Given the description of an element on the screen output the (x, y) to click on. 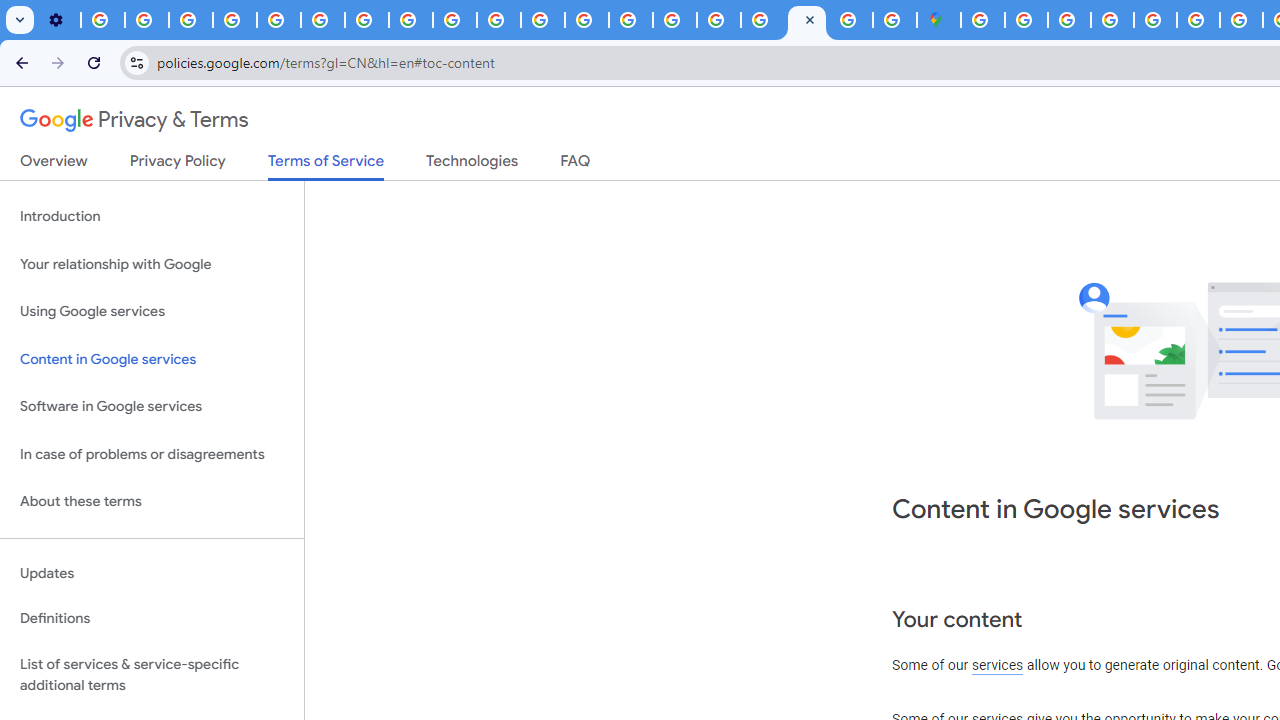
Definitions (152, 619)
Privacy Checkup (454, 20)
Settings - Customize profile (58, 20)
services (997, 666)
Privacy Help Center - Policies Help (1241, 20)
Sign in - Google Accounts (1026, 20)
List of services & service-specific additional terms (152, 674)
Delete photos & videos - Computer - Google Photos Help (102, 20)
